Given the description of an element on the screen output the (x, y) to click on. 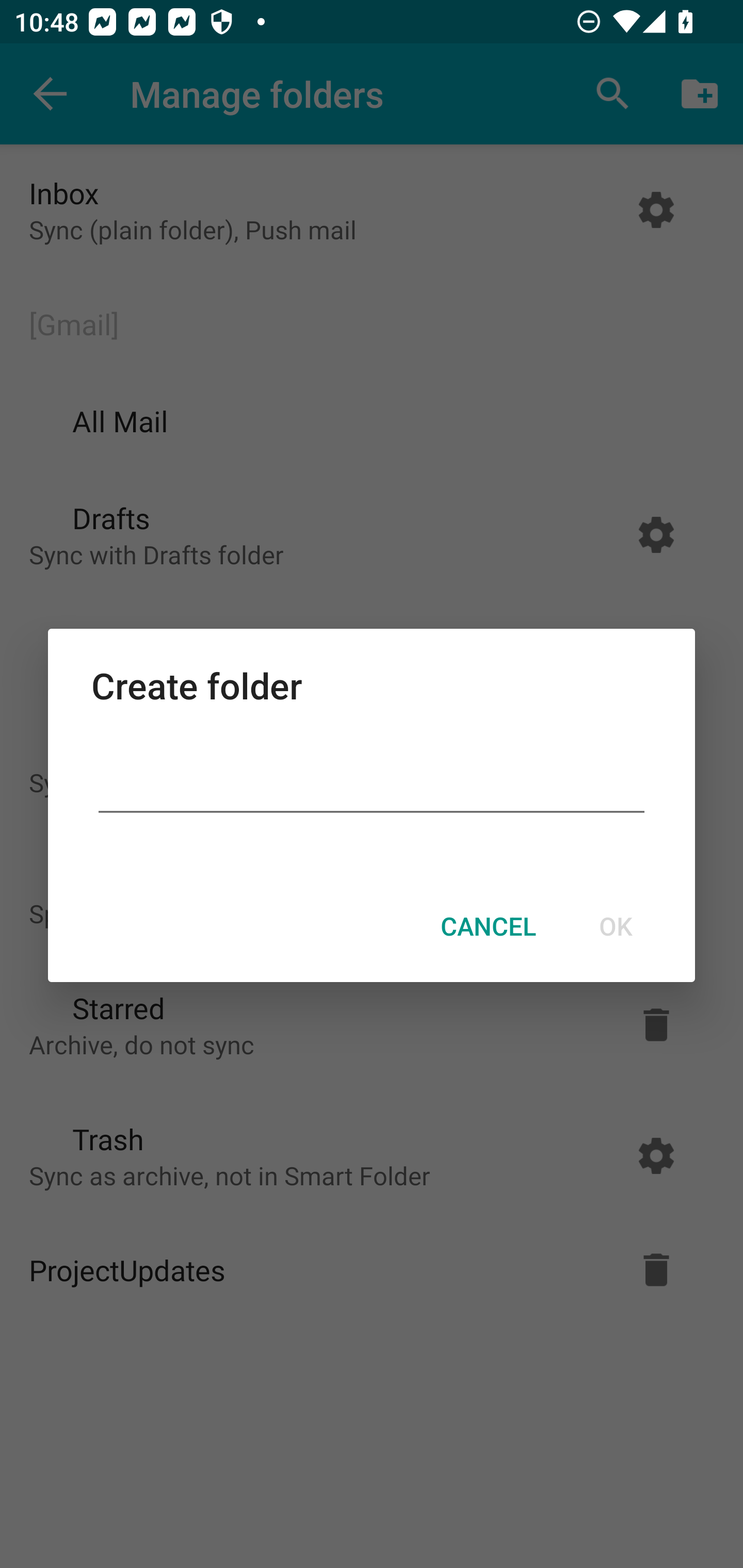
CANCEL (488, 926)
OK (615, 926)
